Given the description of an element on the screen output the (x, y) to click on. 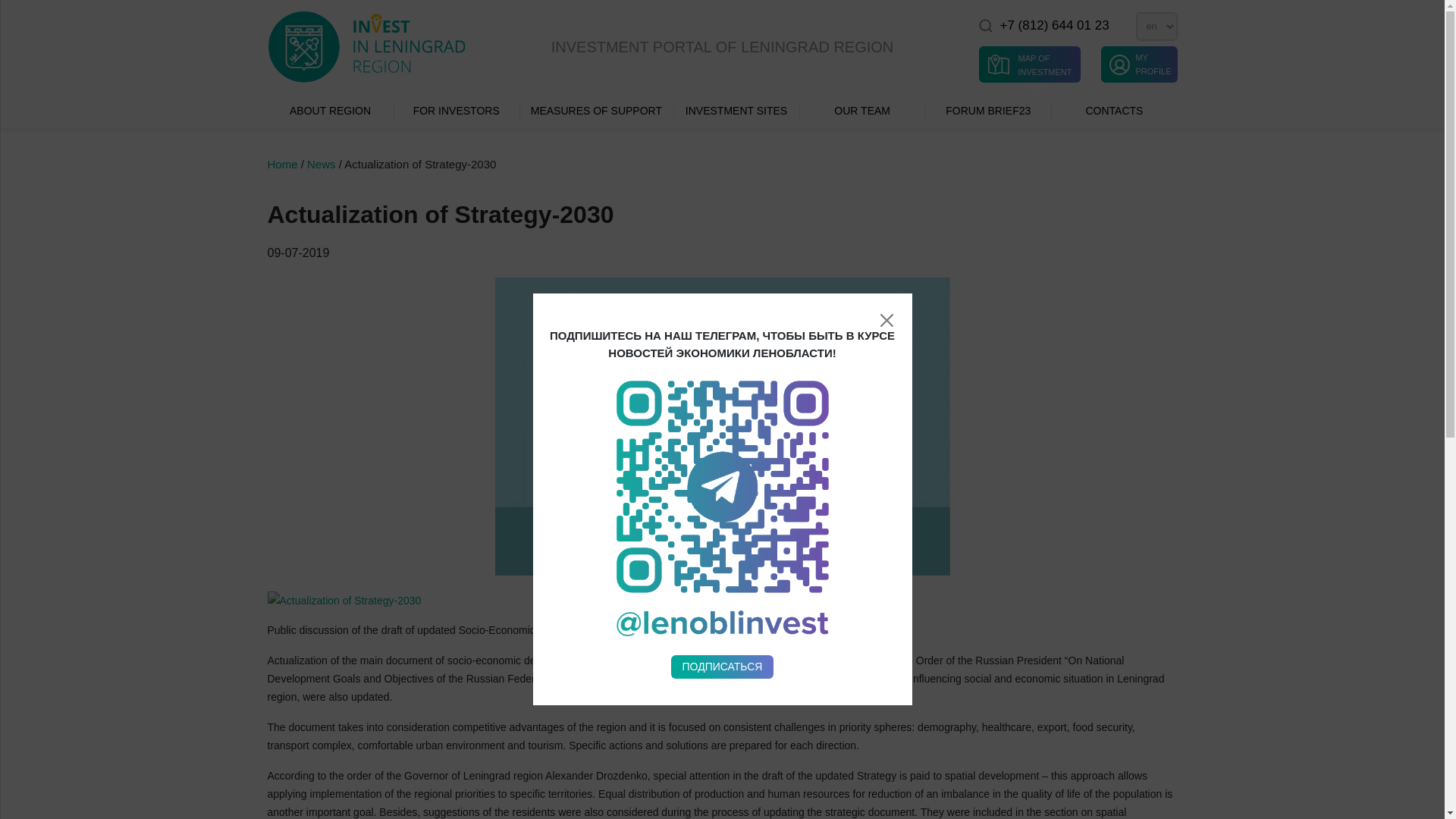
MAP OF INVESTMENT SITES (1029, 63)
FOR INVESTORS (456, 110)
ABOUT REGION (329, 110)
MY PROFILE (1138, 63)
MEASURES OF SUPPORT (595, 110)
